Given the description of an element on the screen output the (x, y) to click on. 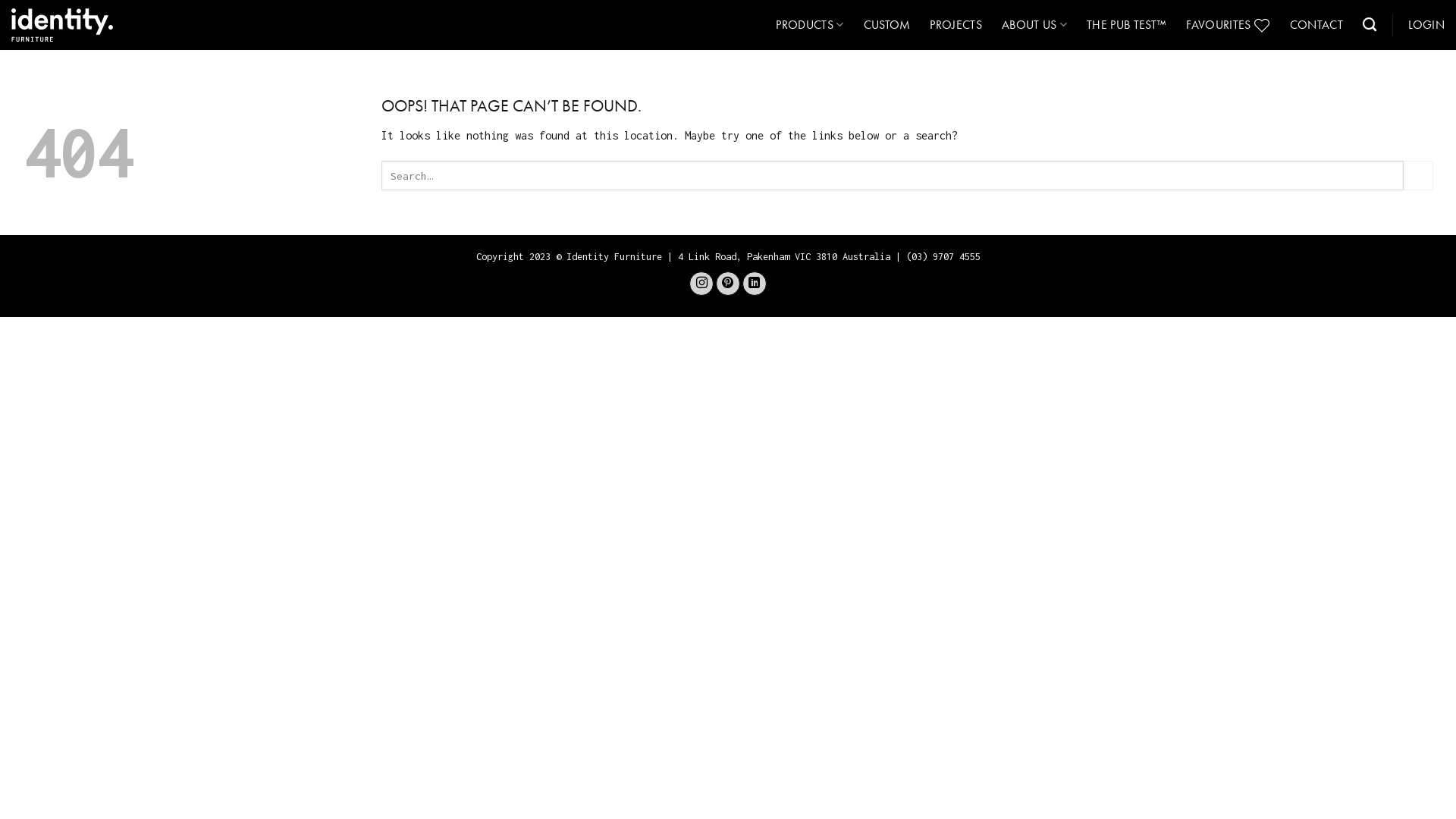
PROJECTS Element type: text (955, 24)
Skip to content Element type: text (0, 0)
ABOUT US Element type: text (1033, 24)
Follow on Instagram Element type: hover (701, 283)
FAVOURITES Element type: text (1228, 24)
CUSTOM Element type: text (886, 24)
Follow on LinkedIn Element type: hover (754, 283)
Follow on Pinterest Element type: hover (727, 283)
CONTACT Element type: text (1316, 24)
LOGIN Element type: text (1426, 24)
PRODUCTS Element type: text (809, 24)
